Given the description of an element on the screen output the (x, y) to click on. 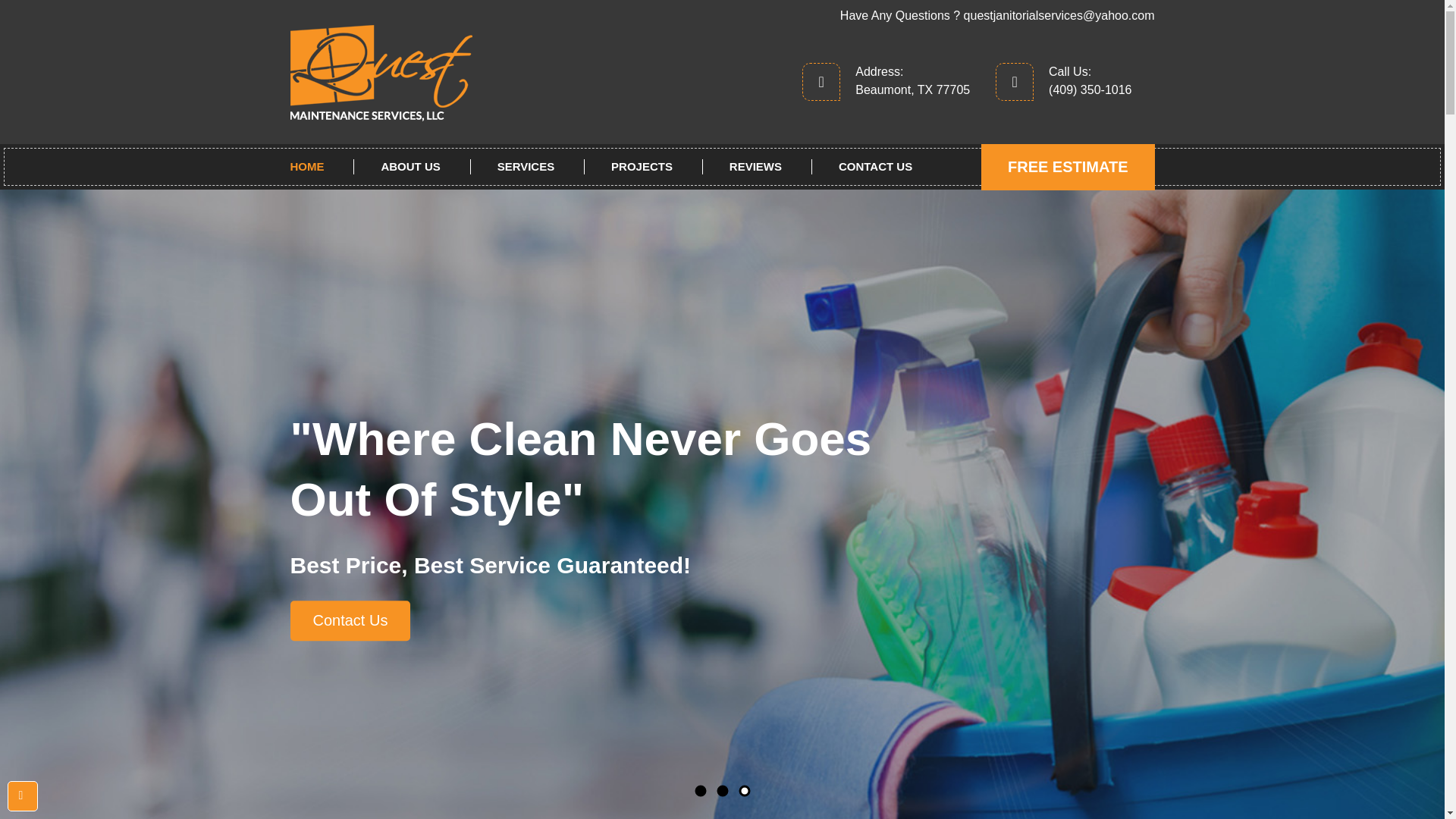
Reviews (754, 166)
ABOUT US (409, 166)
PROJECTS (640, 166)
FREE ESTIMATE (1067, 166)
Contact Us (874, 166)
Free Estimate (1067, 166)
REVIEWS (754, 166)
Home (319, 166)
SERVICES (525, 166)
Quest Maintenance Services (425, 73)
Contact Us (349, 621)
CONTACT US (874, 166)
Quest Maintenance Services (380, 73)
About Us (409, 166)
HOME (319, 166)
